Given the description of an element on the screen output the (x, y) to click on. 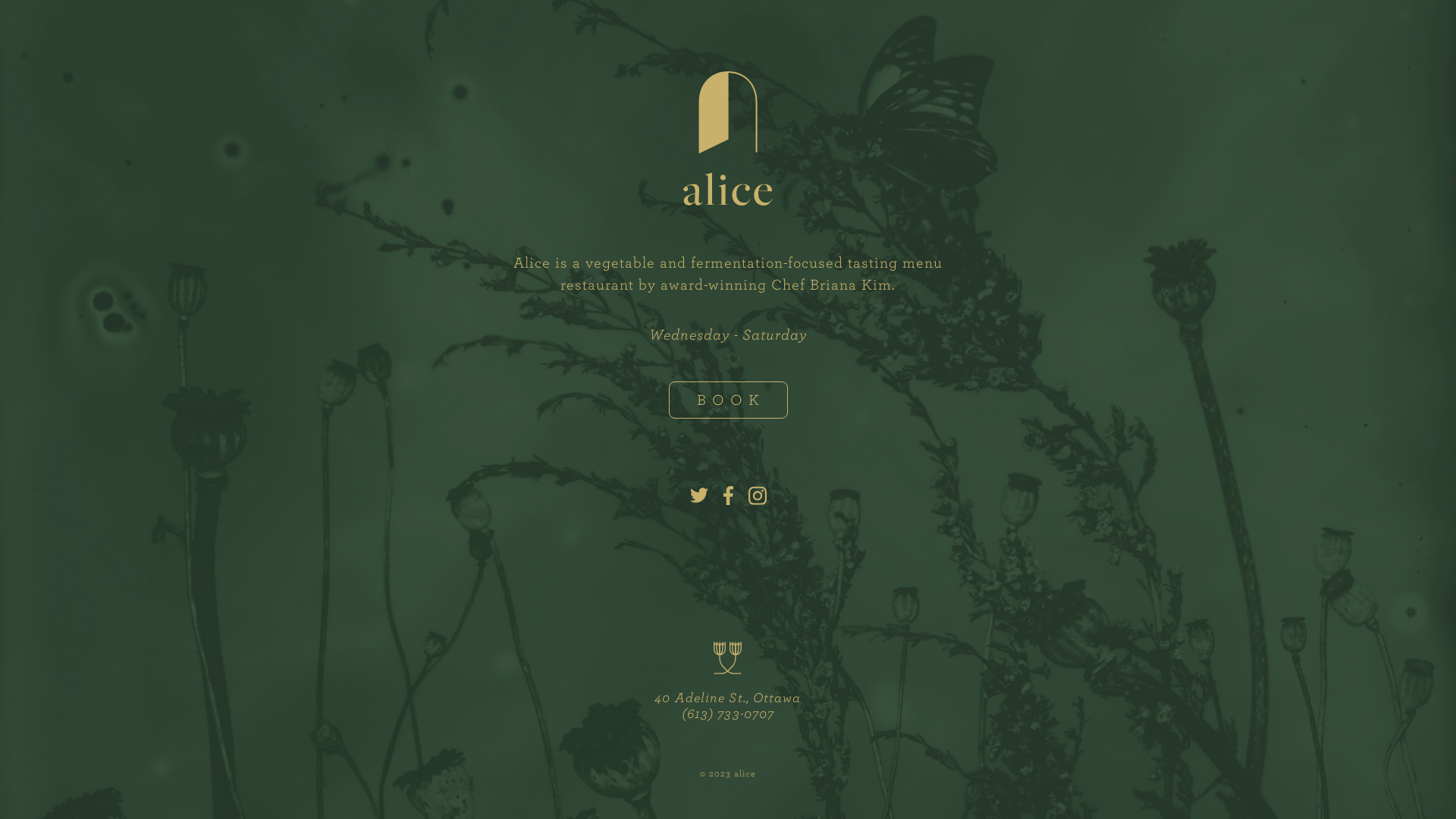
Facebook Element type: hover (728, 497)
(613) 733-0707 Element type: text (727, 713)
BOOK Element type: text (727, 399)
Twitter Element type: hover (699, 497)
Instagram Element type: hover (756, 497)
